Given the description of an element on the screen output the (x, y) to click on. 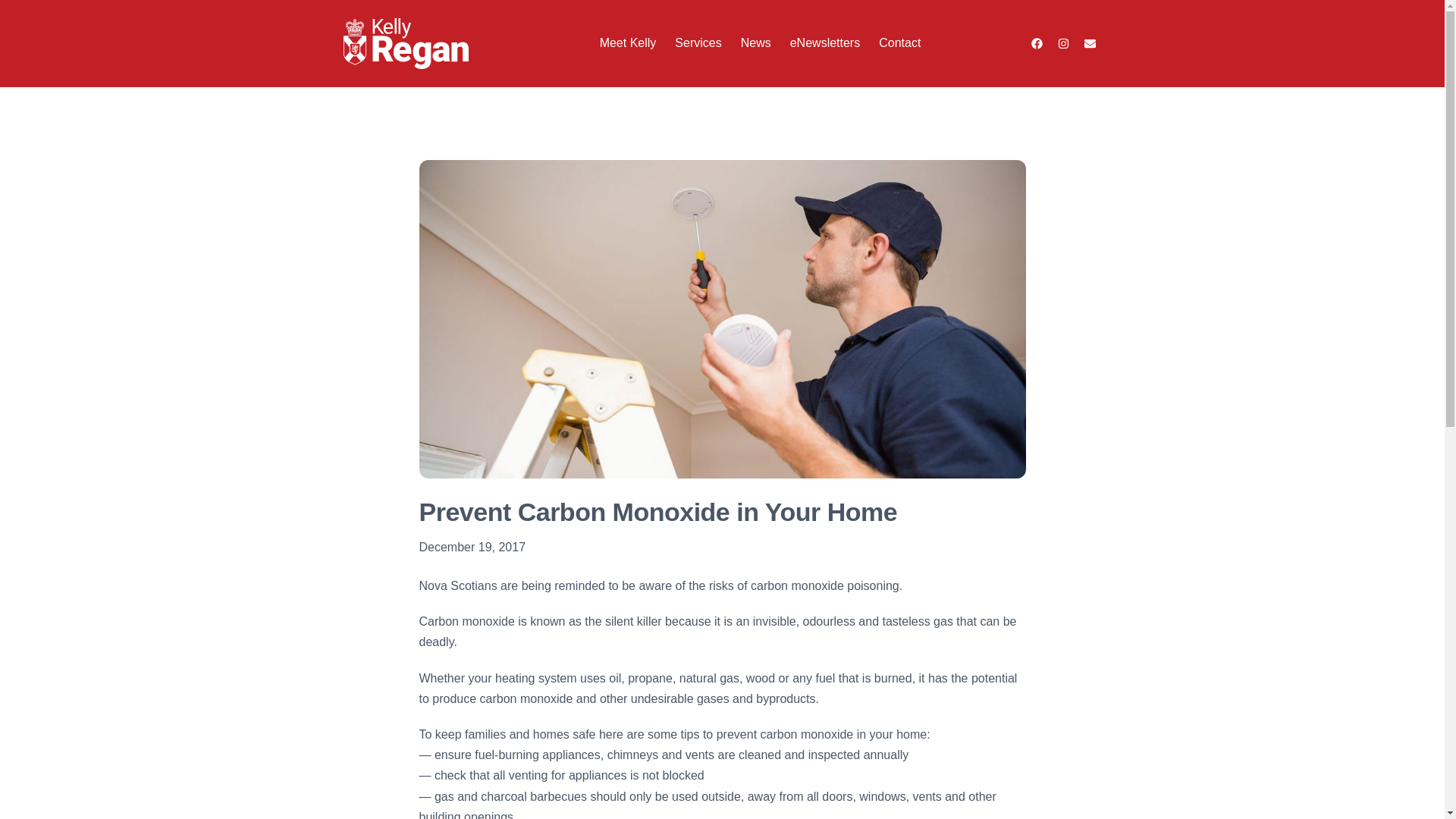
Contact (899, 43)
Services (697, 43)
eNewsletters (825, 43)
December 19, 2017 (472, 547)
Meet Kelly (627, 43)
News (756, 43)
